Given the description of an element on the screen output the (x, y) to click on. 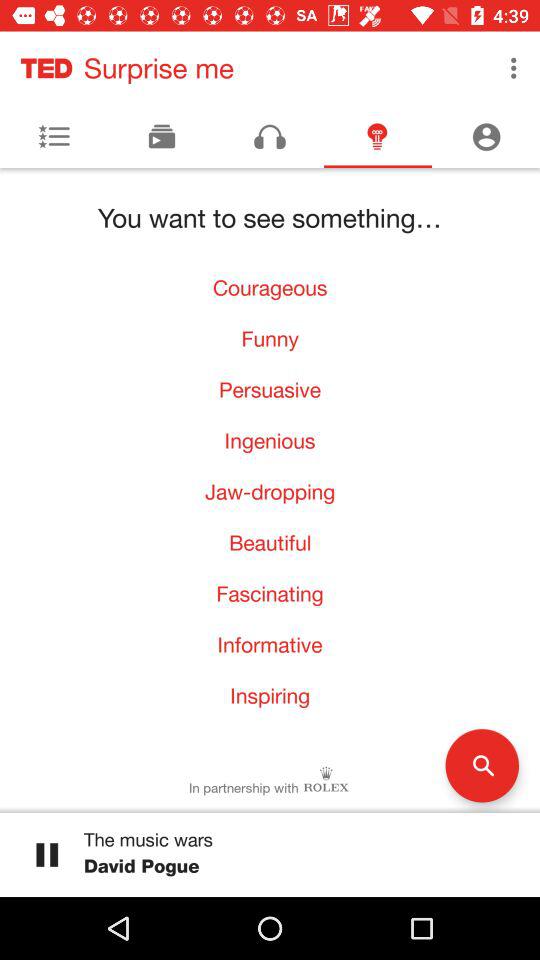
click the courageous icon (270, 287)
